Given the description of an element on the screen output the (x, y) to click on. 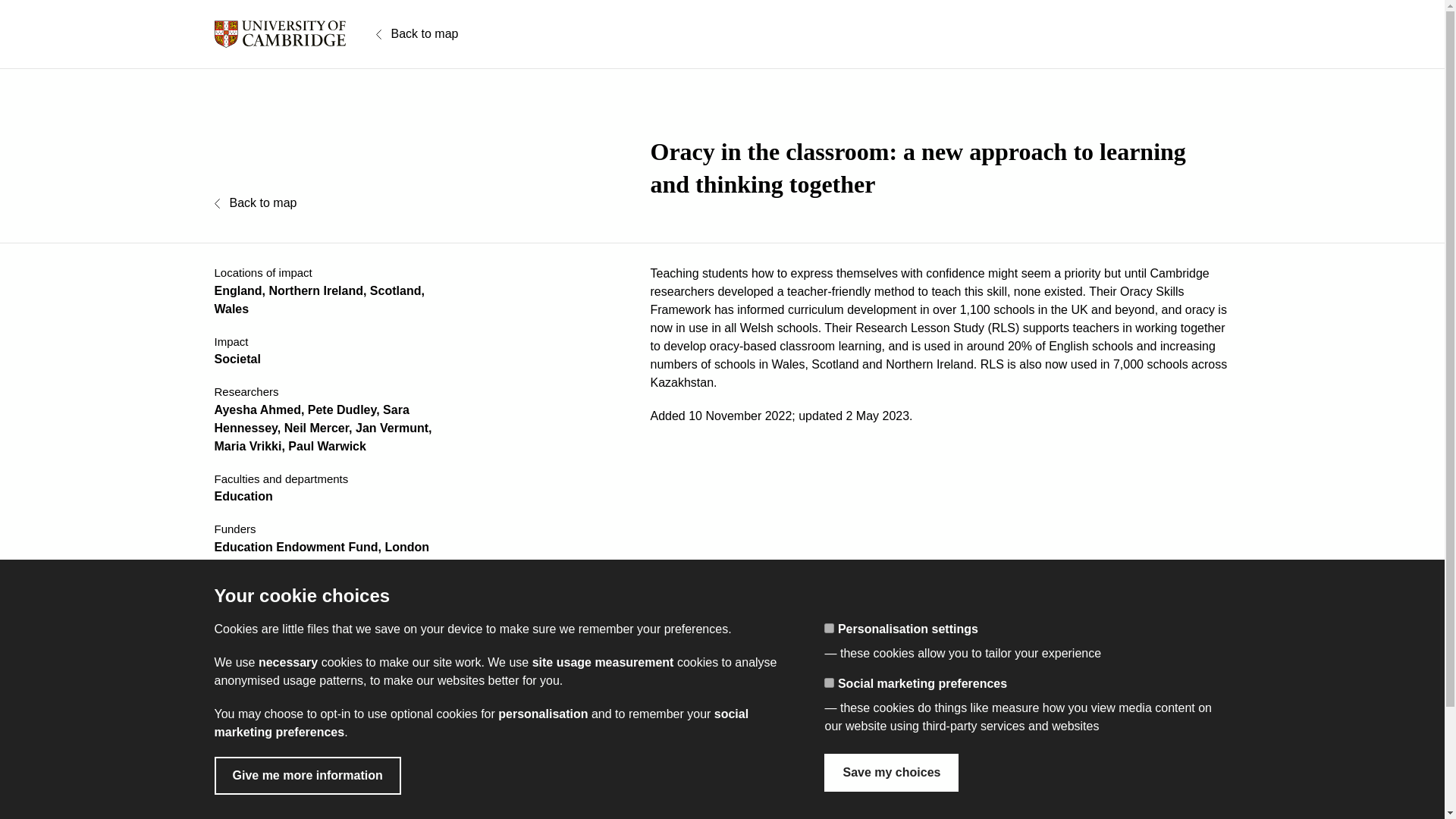
About research at Cambridge (1075, 708)
Freedom of information (274, 807)
Back to map (416, 34)
Visiting the University (793, 808)
Public engagement (1051, 734)
Maps (755, 758)
Save my choices (891, 772)
Contact the University (271, 757)
Back to map (255, 203)
Study at Cambridge (533, 658)
